Given the description of an element on the screen output the (x, y) to click on. 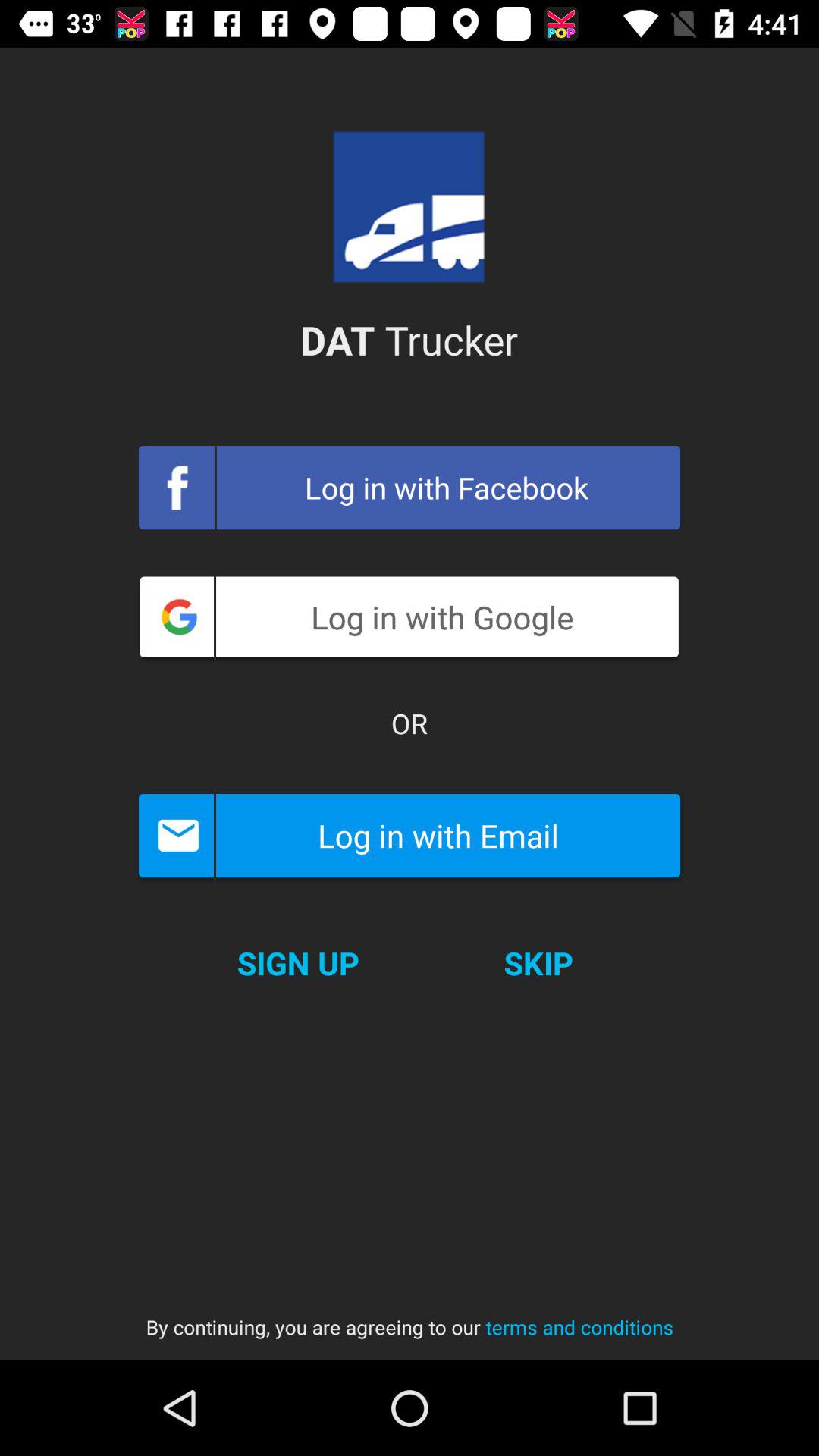
press the sign up (297, 962)
